Given the description of an element on the screen output the (x, y) to click on. 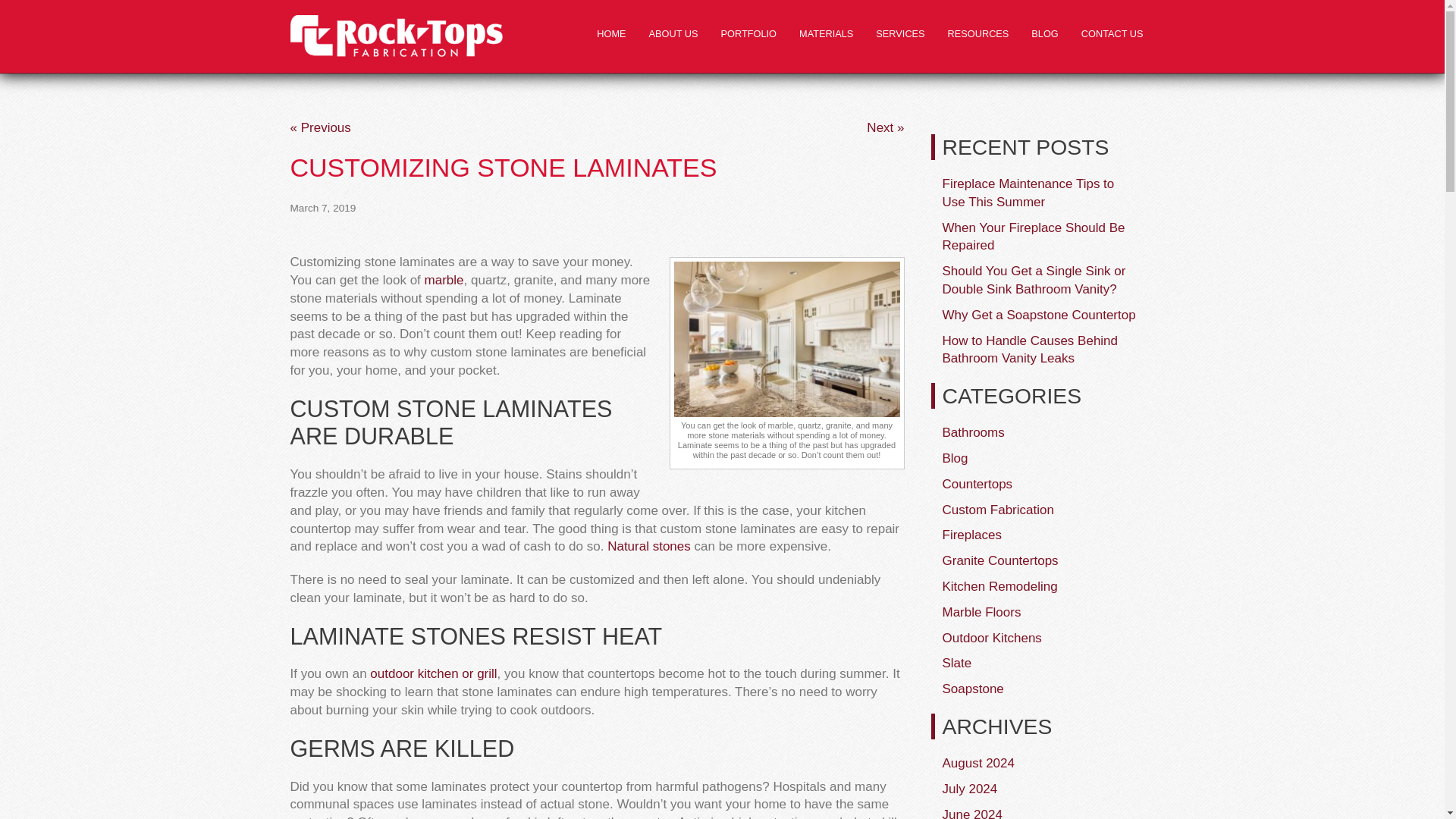
outdoor kitchen or grill (432, 673)
MATERIALS (825, 34)
marble (444, 279)
BLOG (1044, 34)
ABOUT US (673, 34)
CONTACT US (1112, 34)
Natural stones (648, 545)
Rock Tops Fabrication (395, 36)
PORTFOLIO (748, 34)
HOME (611, 34)
SERVICES (900, 34)
RESOURCES (978, 34)
